Given the description of an element on the screen output the (x, y) to click on. 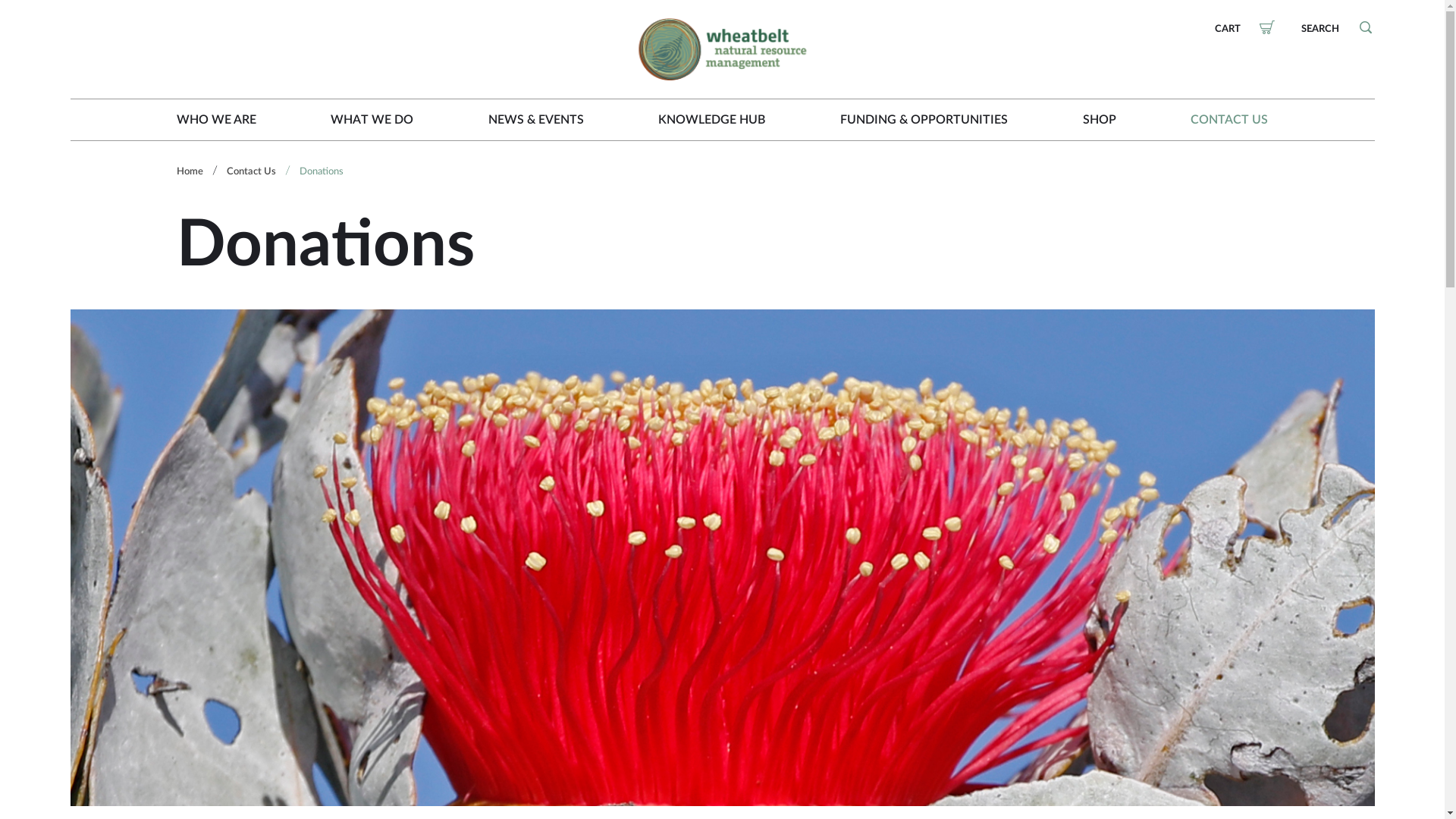
SHOP Element type: text (1099, 119)
KNOWLEDGE HUB Element type: text (711, 119)
Skip to main content Element type: text (123, 0)
NEWS & EVENTS Element type: text (535, 119)
FUNDING & OPPORTUNITIES Element type: text (923, 119)
WHAT WE DO Element type: text (371, 119)
WHO WE ARE Element type: text (215, 119)
CONTACT US Element type: text (1228, 119)
Home Element type: text (188, 171)
Contact Us Element type: text (250, 171)
